Given the description of an element on the screen output the (x, y) to click on. 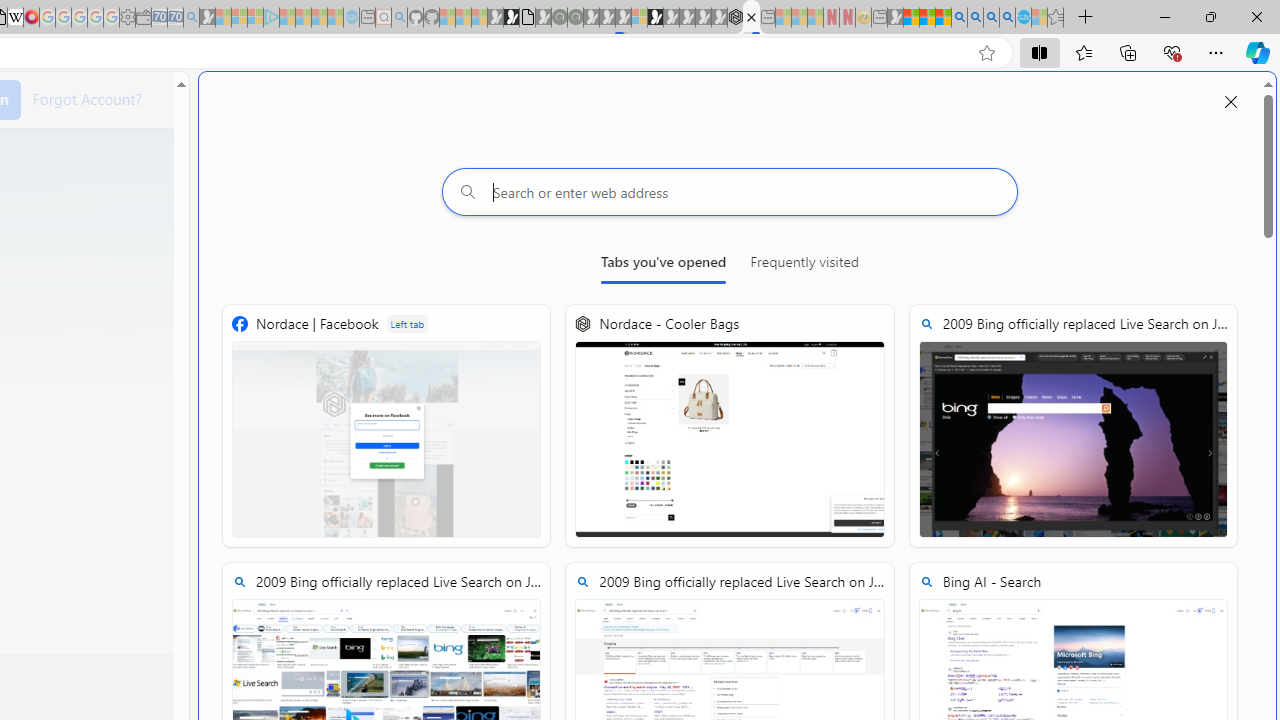
Nordace - Cooler Bags (735, 17)
Sign in to your account - Sleeping (639, 17)
MSN - Sleeping (895, 17)
Wallet - Sleeping (143, 17)
